Given the description of an element on the screen output the (x, y) to click on. 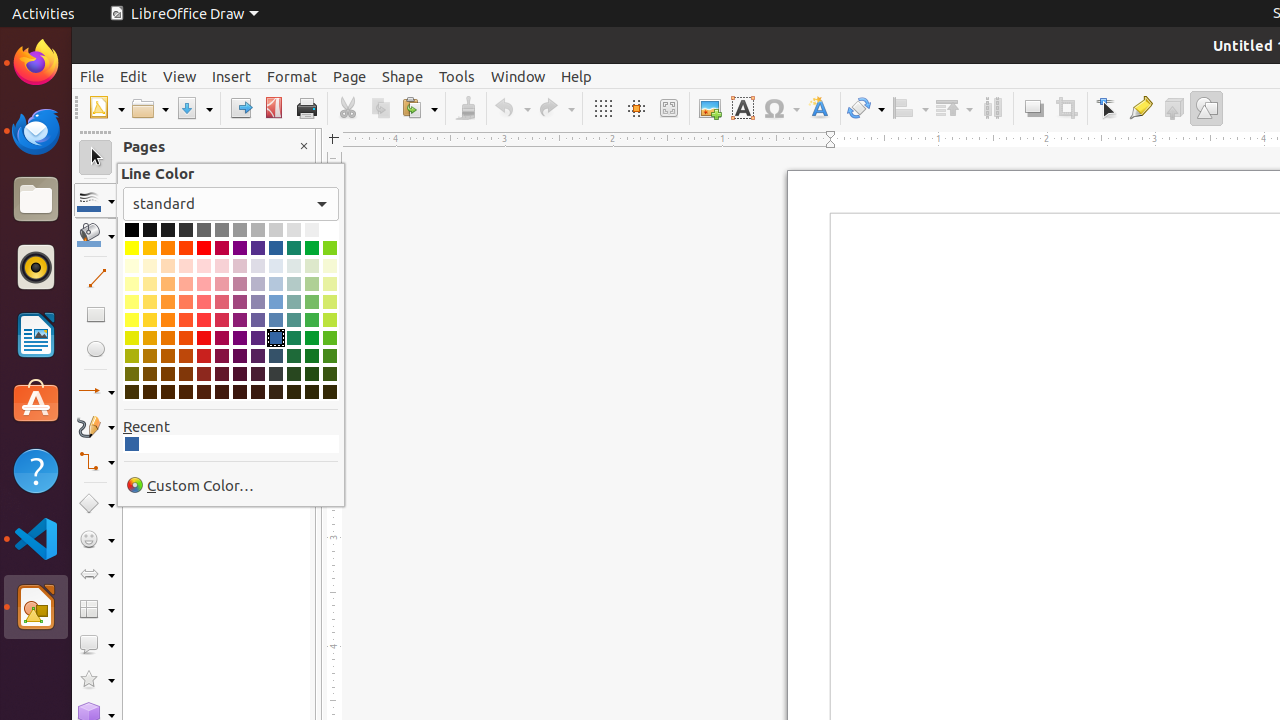
Light Blue 3 Element type: list-item (276, 284)
Export Element type: push-button (240, 108)
Light Gray 3 Element type: list-item (276, 230)
Light Lime 2 Element type: list-item (330, 302)
Format Element type: menu (292, 76)
